Given the description of an element on the screen output the (x, y) to click on. 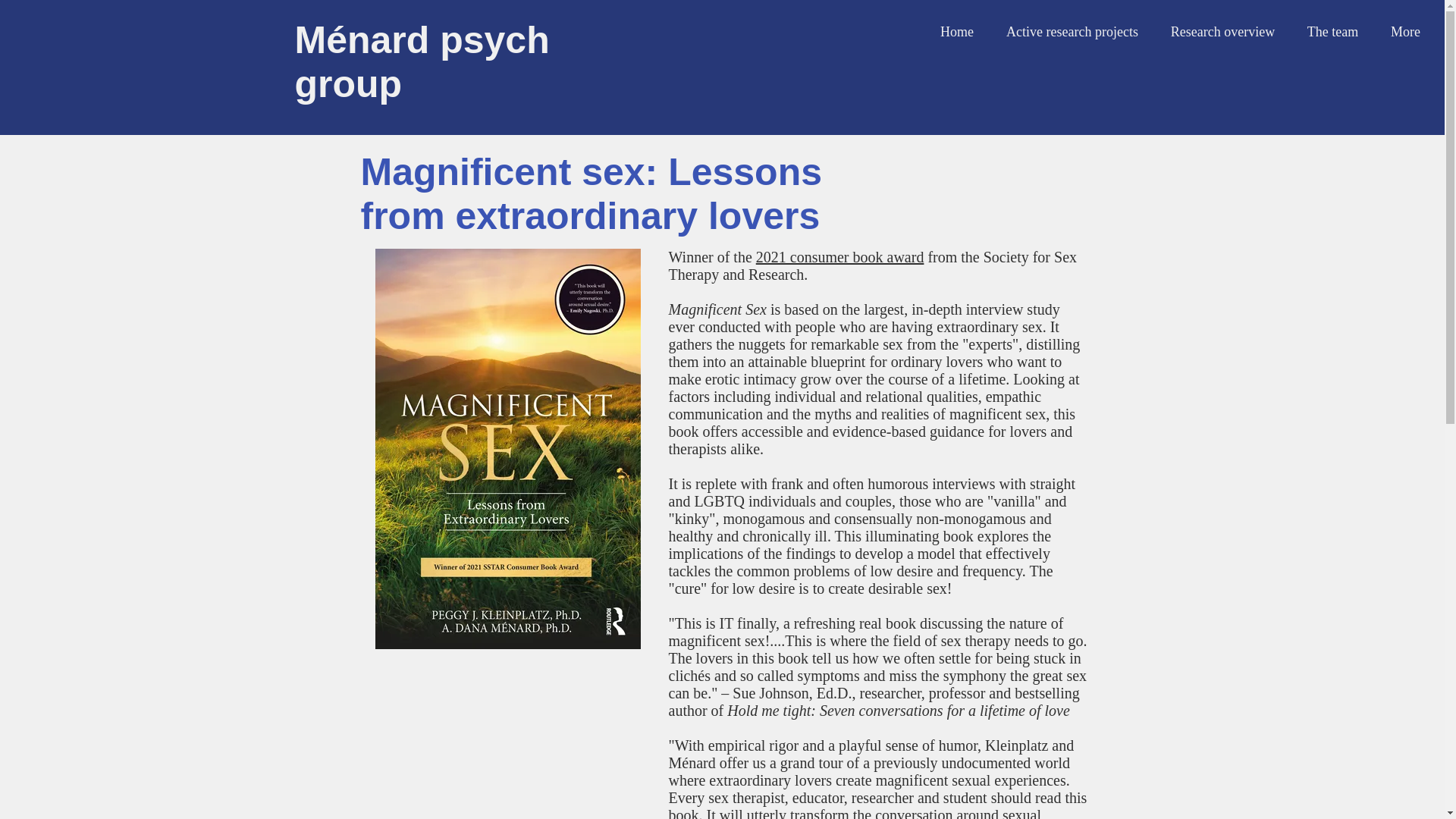
Home (957, 31)
Research overview (1222, 31)
2021 consumer book award (839, 256)
Active research projects (1072, 31)
The team (1332, 31)
